Given the description of an element on the screen output the (x, y) to click on. 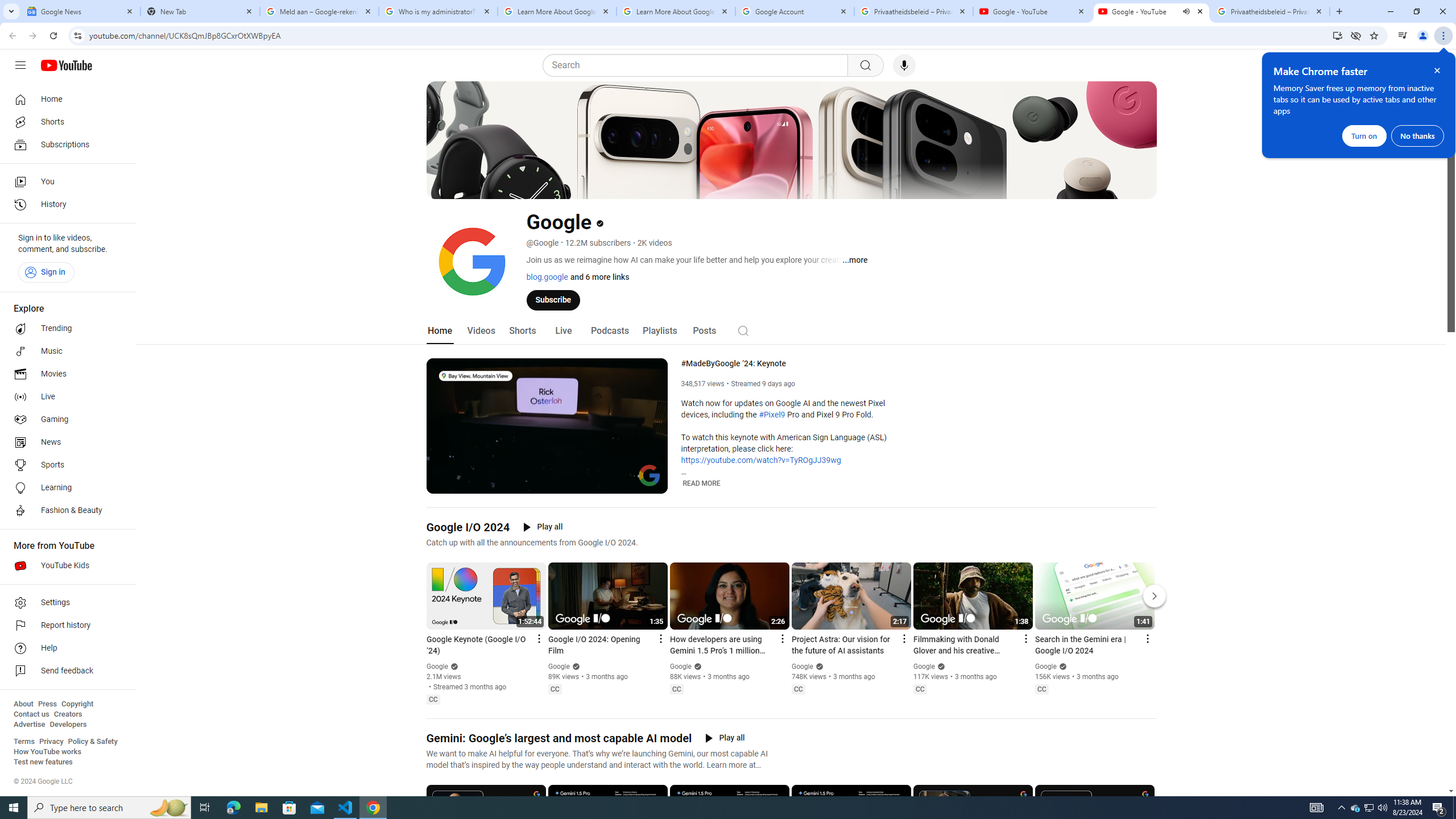
Google Account (794, 11)
Movies (64, 373)
Subtitles/closed captions unavailable (609, 483)
Live (64, 396)
and 6 more links (598, 276)
Posts (703, 330)
Google - YouTube (1032, 11)
Who is my administrator? - Google Account Help (438, 11)
